Given the description of an element on the screen output the (x, y) to click on. 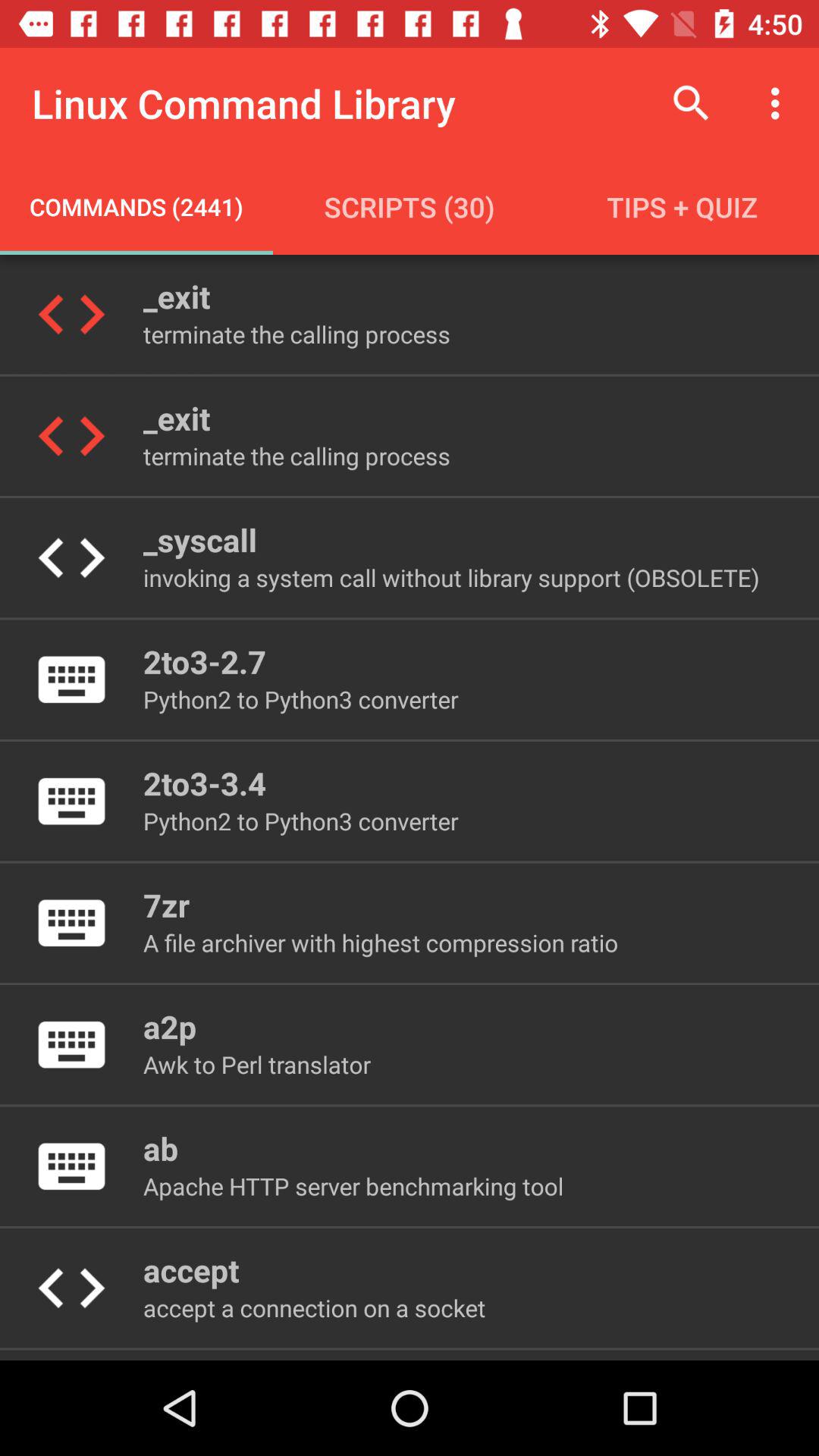
turn on a2p icon (169, 1026)
